Given the description of an element on the screen output the (x, y) to click on. 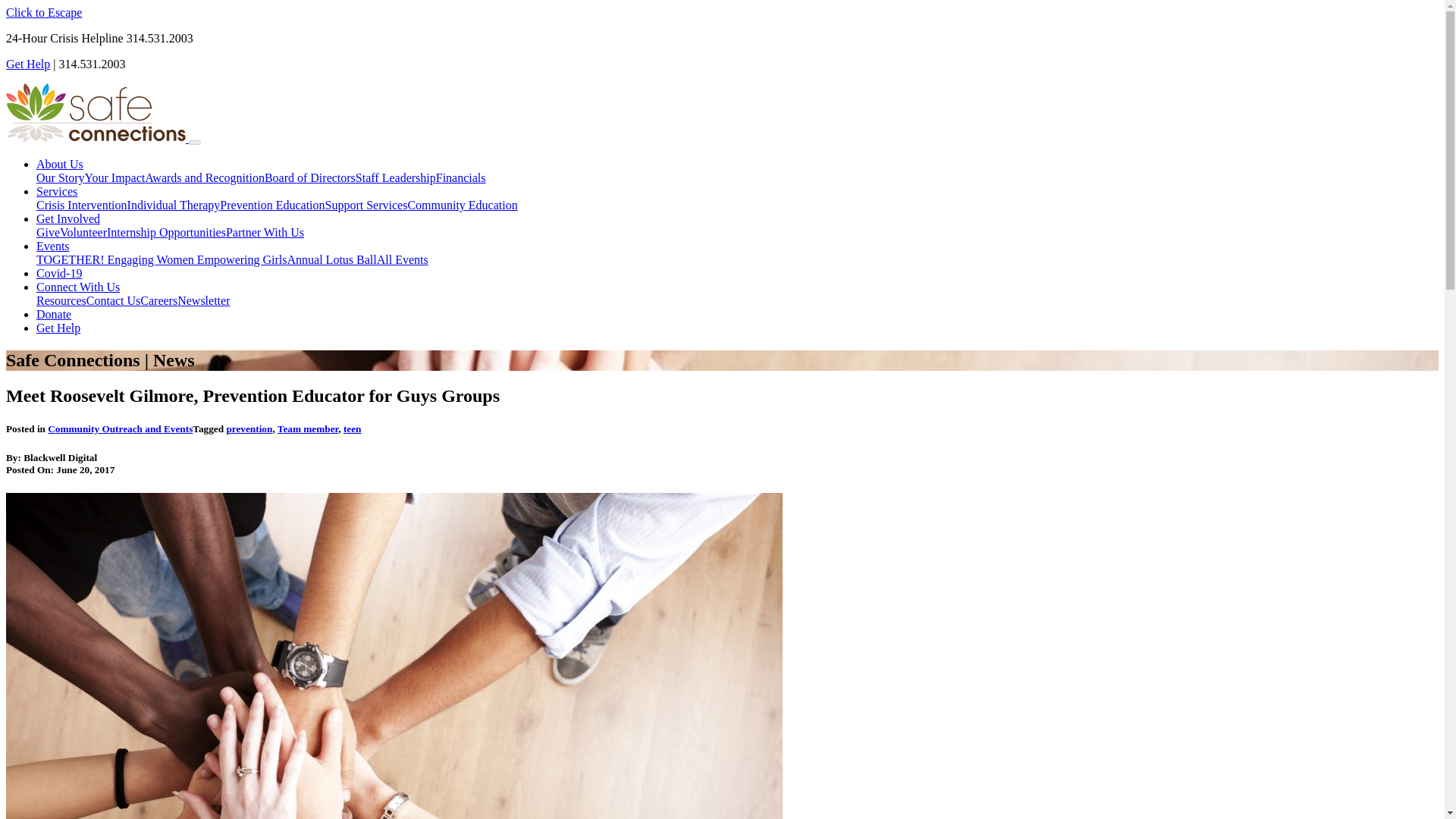
All Events (402, 259)
Financials (460, 177)
Resources (60, 300)
Contact Us (113, 300)
Careers (158, 300)
Staff Leadership (395, 177)
Get Help (27, 63)
Get Involved (68, 218)
Your Impact (114, 177)
Internship Opportunities (165, 232)
Awards and Recognition (204, 177)
Partner With Us (264, 232)
Get Help (58, 327)
Prevention Education (271, 205)
Safe Connections (97, 137)
